Given the description of an element on the screen output the (x, y) to click on. 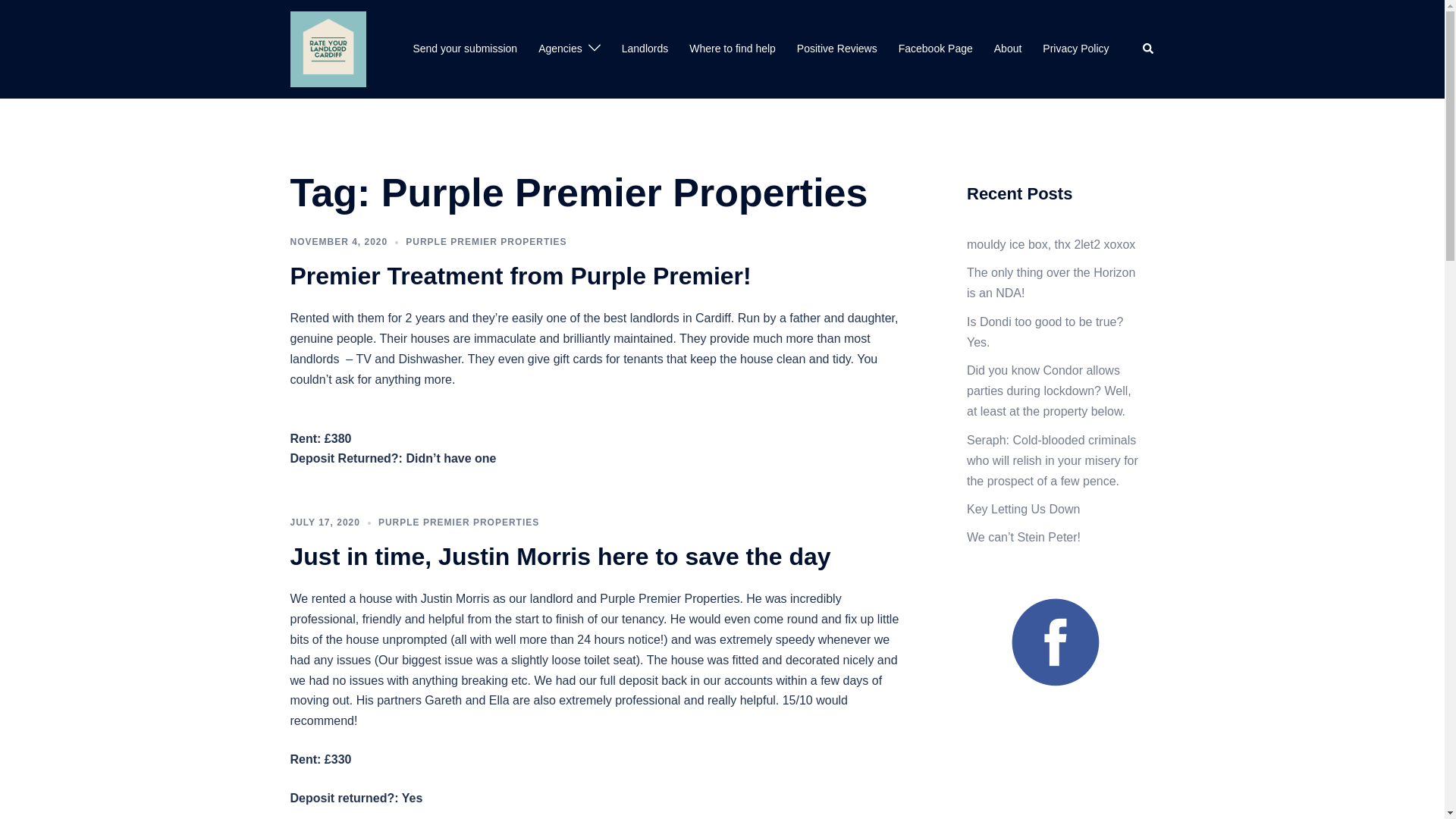
Search (1147, 49)
Rate your Landlord Cardiff (327, 47)
Landlords (644, 49)
Facebook Page (935, 49)
Positive Reviews (836, 49)
About (1008, 49)
Privacy Policy (1075, 49)
Send your submission (464, 49)
Agencies (560, 49)
Where to find help (732, 49)
